Given the description of an element on the screen output the (x, y) to click on. 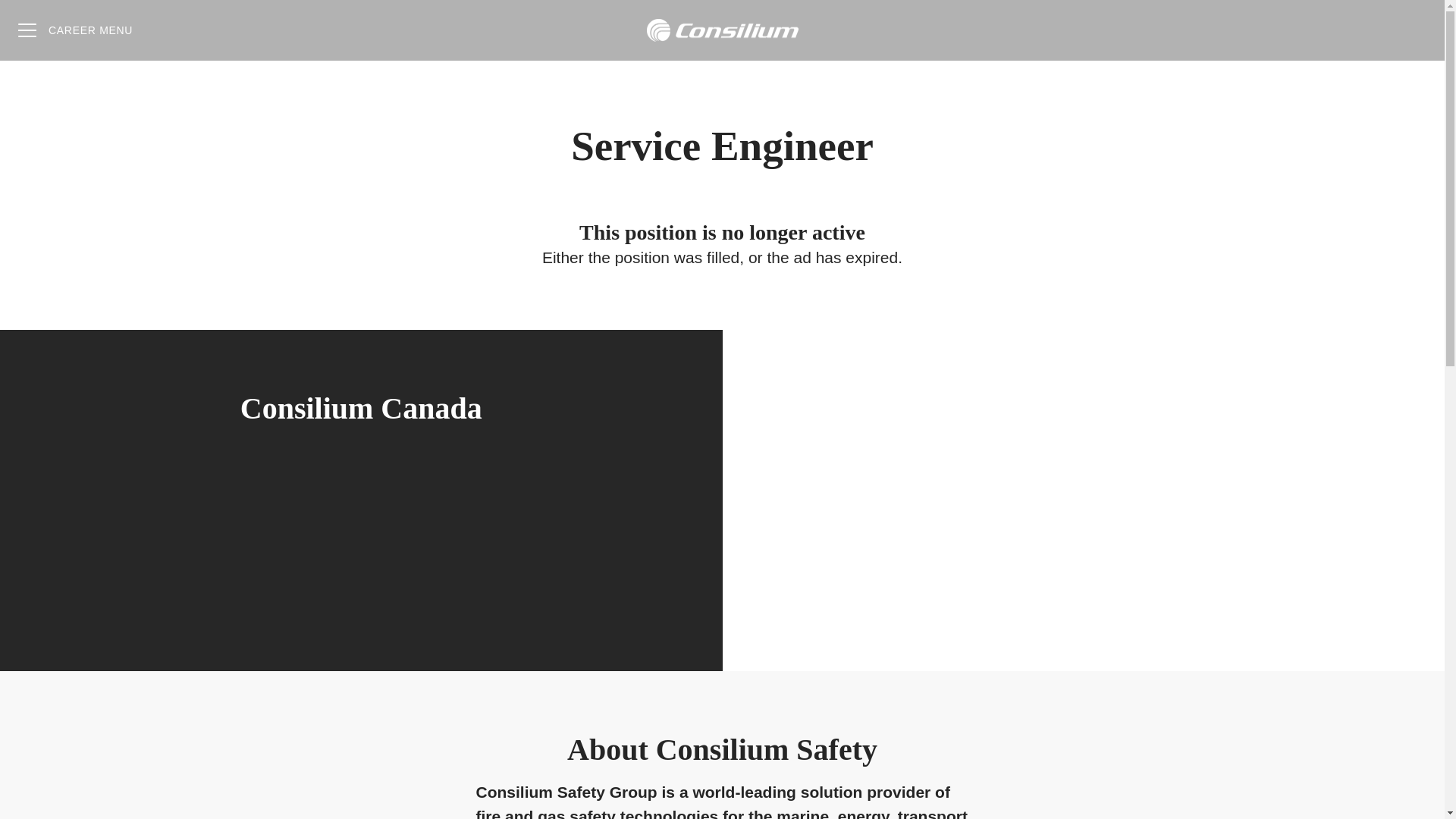
Career menu (74, 30)
Share page (1414, 30)
CAREER MENU (74, 30)
